Given the description of an element on the screen output the (x, y) to click on. 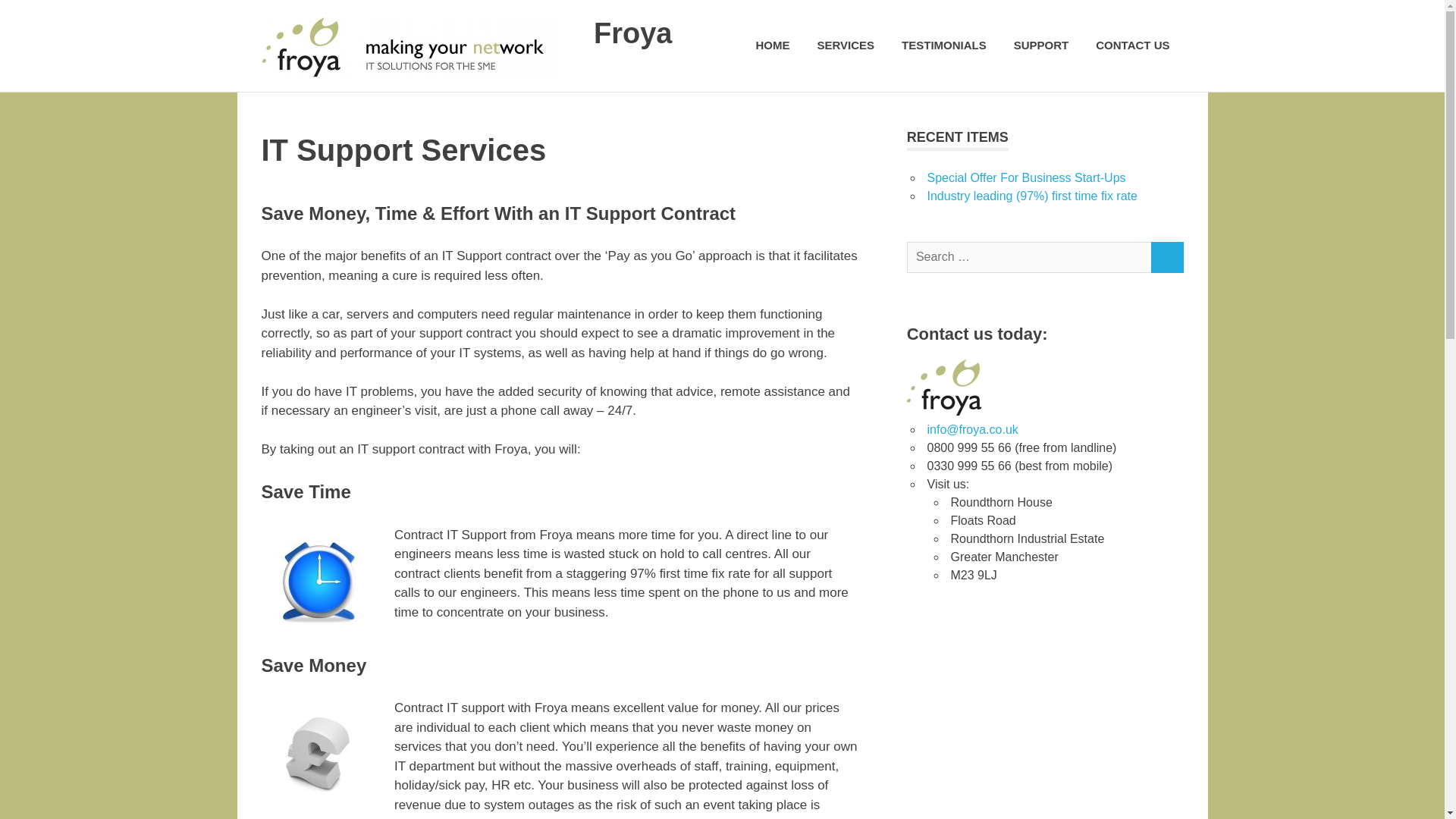
TESTIMONIALS (944, 45)
SERVICES (845, 45)
Froya (632, 33)
HOME (772, 45)
Special Offer For Business Start-Ups (1025, 177)
CONTACT US (1131, 45)
SUPPORT (1041, 45)
Search for: (1029, 256)
SEARCH (1166, 256)
